Given the description of an element on the screen output the (x, y) to click on. 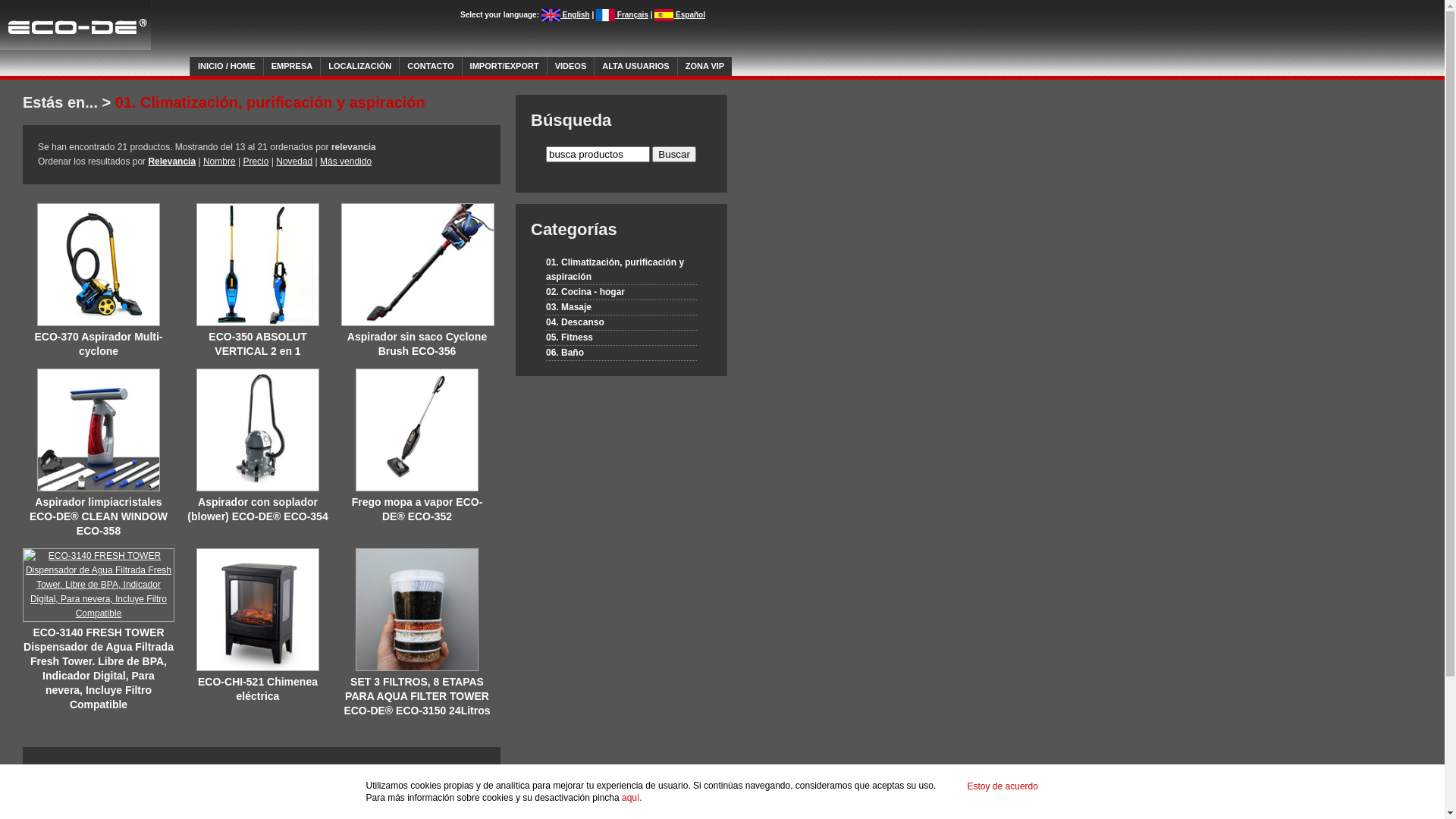
IMPORT/EXPORT Element type: text (504, 65)
1 Element type: text (99, 792)
Novedad Element type: text (294, 161)
12 Element type: text (131, 768)
ECO-370 Aspirador Multi-cyclone Element type: text (98, 343)
Estoy de acuerdo Element type: text (1002, 786)
English Element type: text (565, 14)
04. Descanso Element type: text (621, 322)
CONTACTO Element type: text (430, 65)
Nombre Element type: text (219, 161)
Relevancia Element type: text (171, 161)
ZONA VIP Element type: text (704, 65)
Precio Element type: text (255, 161)
05. Fitness Element type: text (621, 337)
busca productos Element type: text (597, 154)
ALTA USUARIOS Element type: text (635, 65)
48 Element type: text (167, 768)
Aspirador sin saco Cyclone Brush ECO-356 Element type: text (416, 343)
ECO-350 ABSOLUT VERTICAL 2 en 1 Element type: text (257, 343)
INICIO / HOME Element type: text (226, 65)
24 Element type: text (149, 768)
<< Inicio Element type: text (61, 792)
Buscar Element type: text (673, 154)
02. Cocina - hogar Element type: text (621, 292)
03. Masaje Element type: text (621, 307)
2 Element type: text (119, 792)
VIDEOS Element type: text (570, 65)
EMPRESA Element type: text (291, 65)
